Given the description of an element on the screen output the (x, y) to click on. 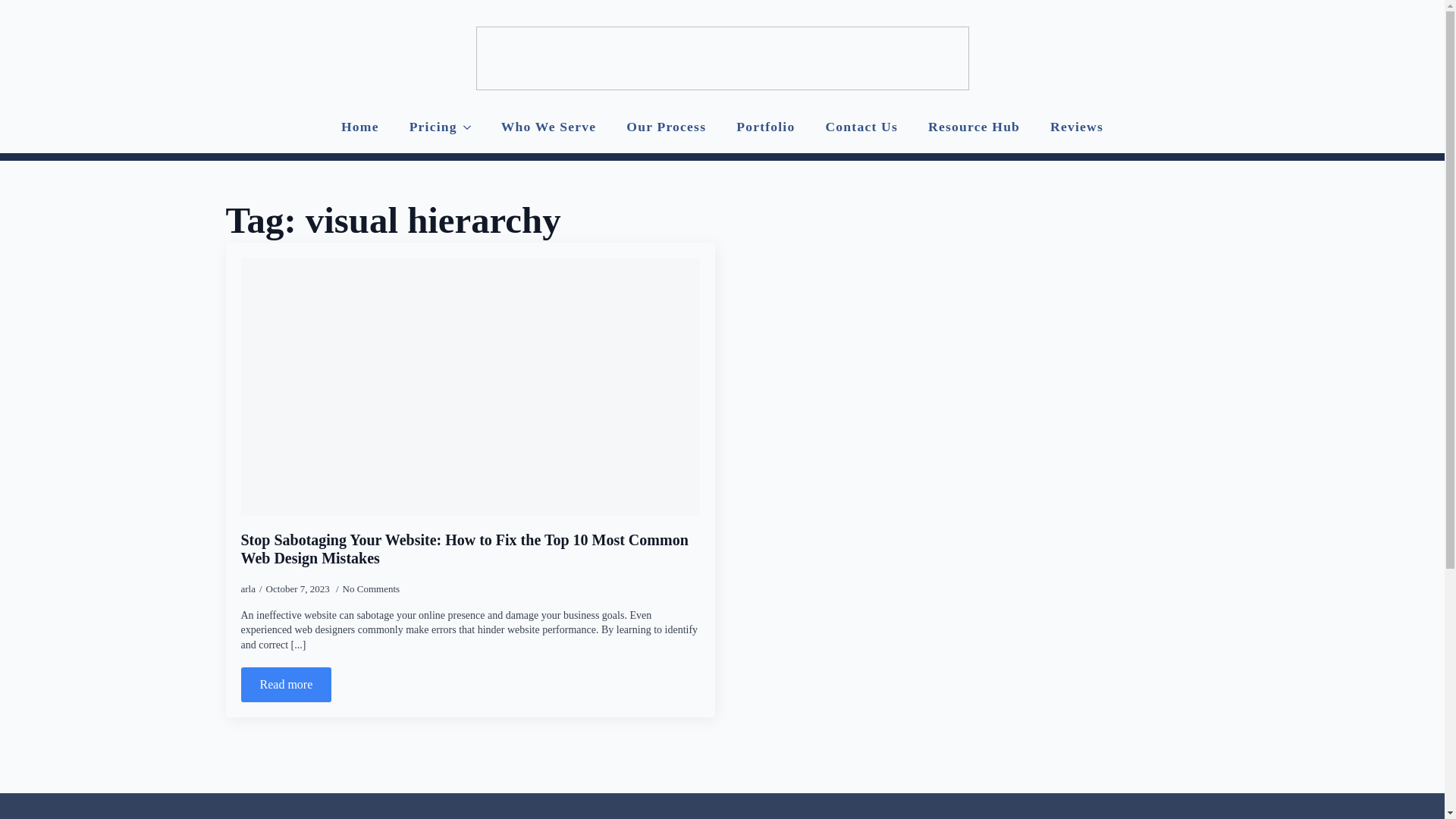
Contact Us (860, 127)
Read more (286, 684)
Pricing (425, 127)
Portfolio (764, 127)
Home (360, 127)
Reviews (1076, 127)
Resource Hub (973, 127)
Our Process (665, 127)
Who We Serve (548, 127)
